Given the description of an element on the screen output the (x, y) to click on. 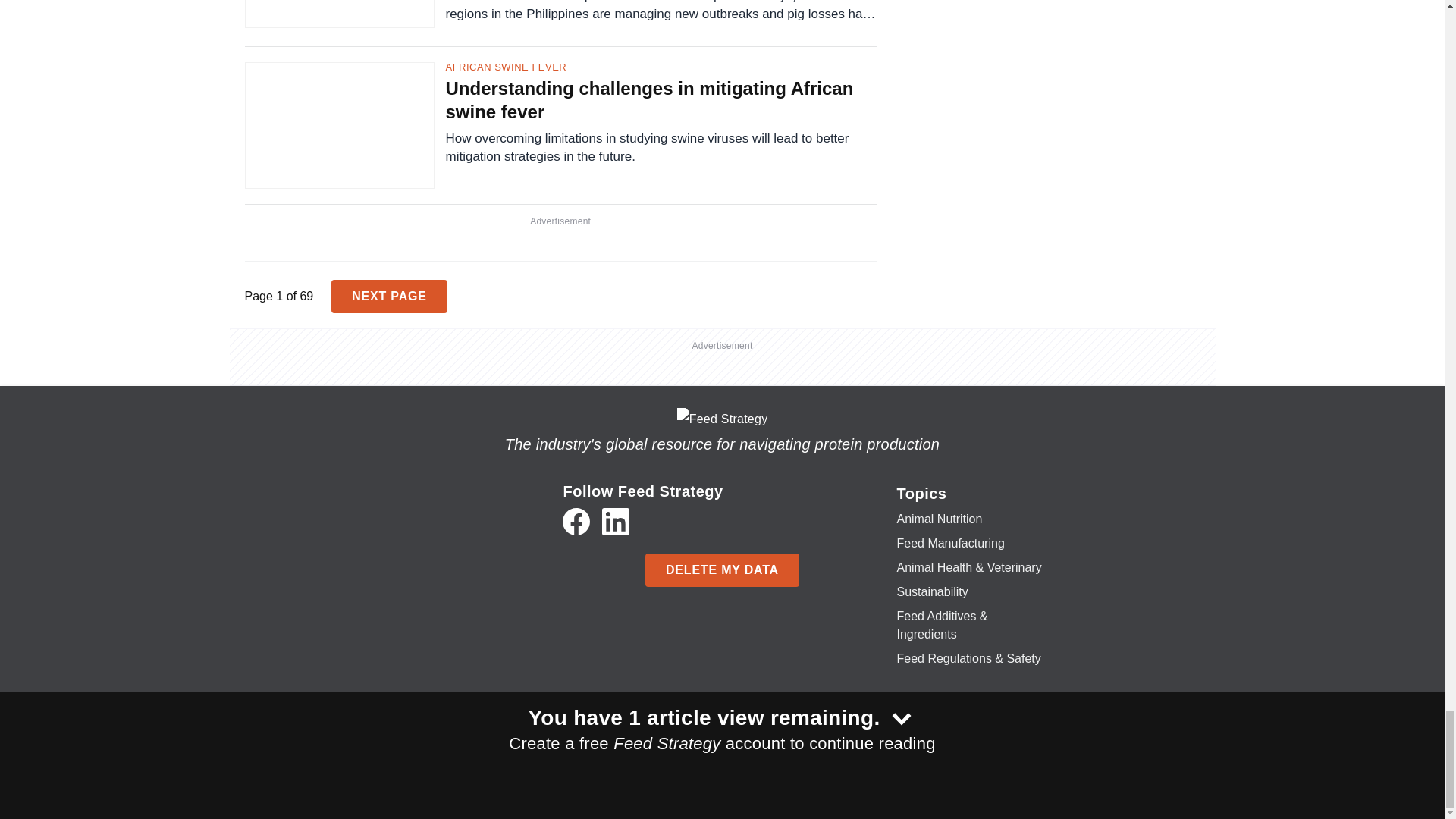
Facebook icon (575, 521)
LinkedIn icon (615, 521)
